Given the description of an element on the screen output the (x, y) to click on. 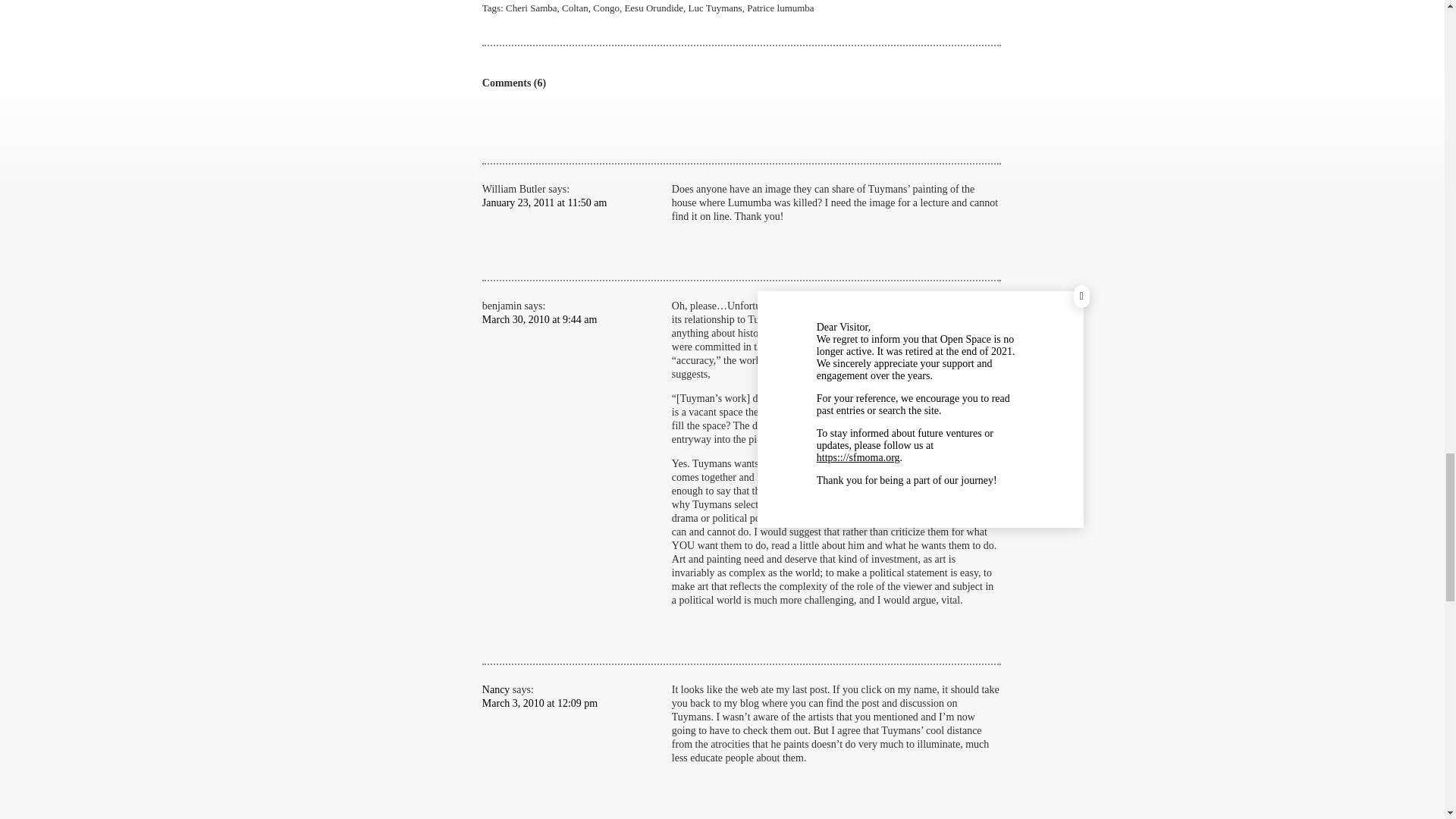
Coltan (575, 7)
Patrice lumumba (779, 7)
Congo (606, 7)
January 23, 2011 at 11:50 am (544, 202)
March 3, 2010 at 12:09 pm (538, 703)
Eesu Orundide (653, 7)
Luc Tuymans (715, 7)
Nancy (496, 689)
March 30, 2010 at 9:44 am (538, 319)
Cheri Samba (531, 7)
